Given the description of an element on the screen output the (x, y) to click on. 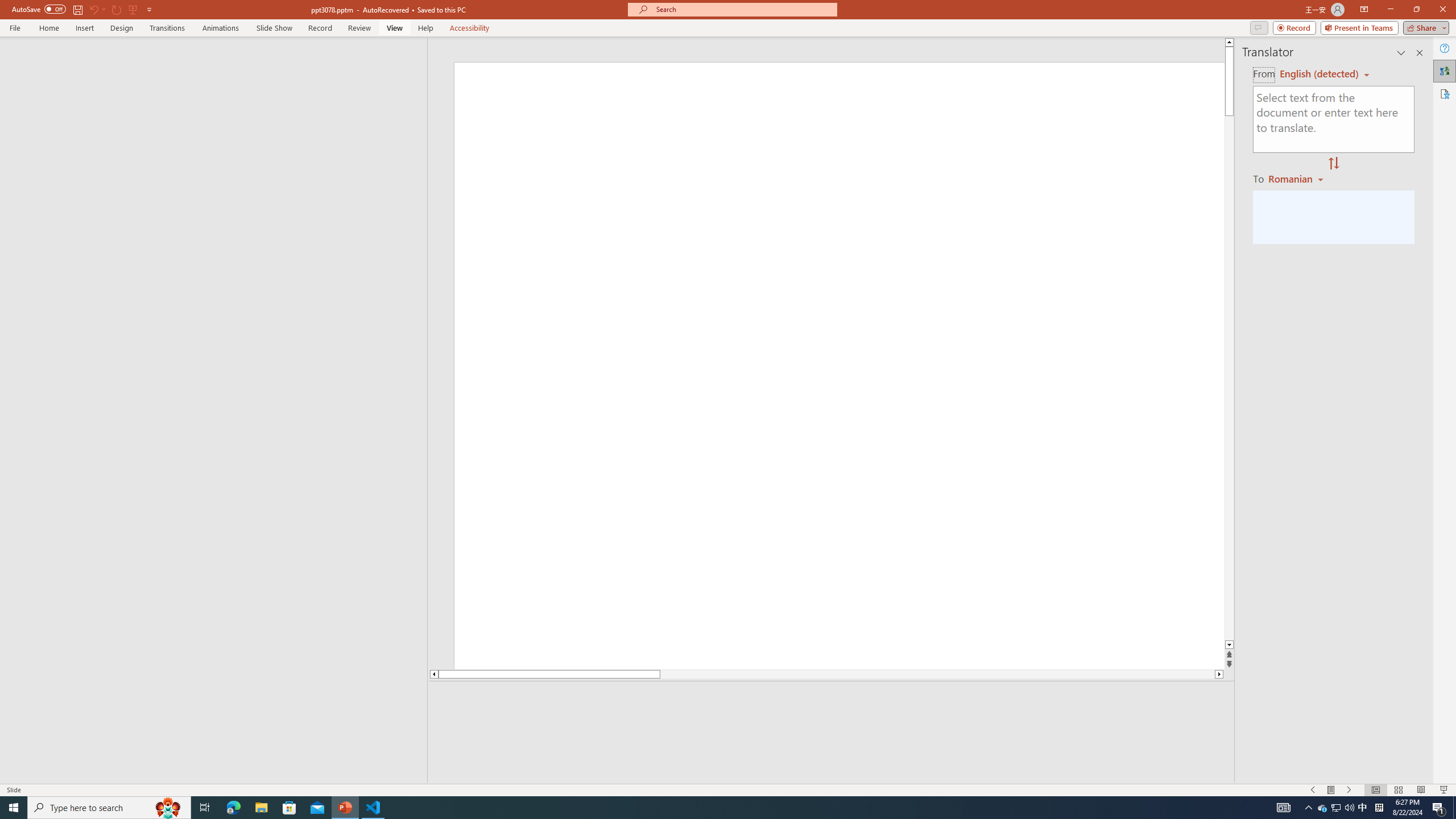
Outline (218, 60)
Menu On (1331, 790)
